Given the description of an element on the screen output the (x, y) to click on. 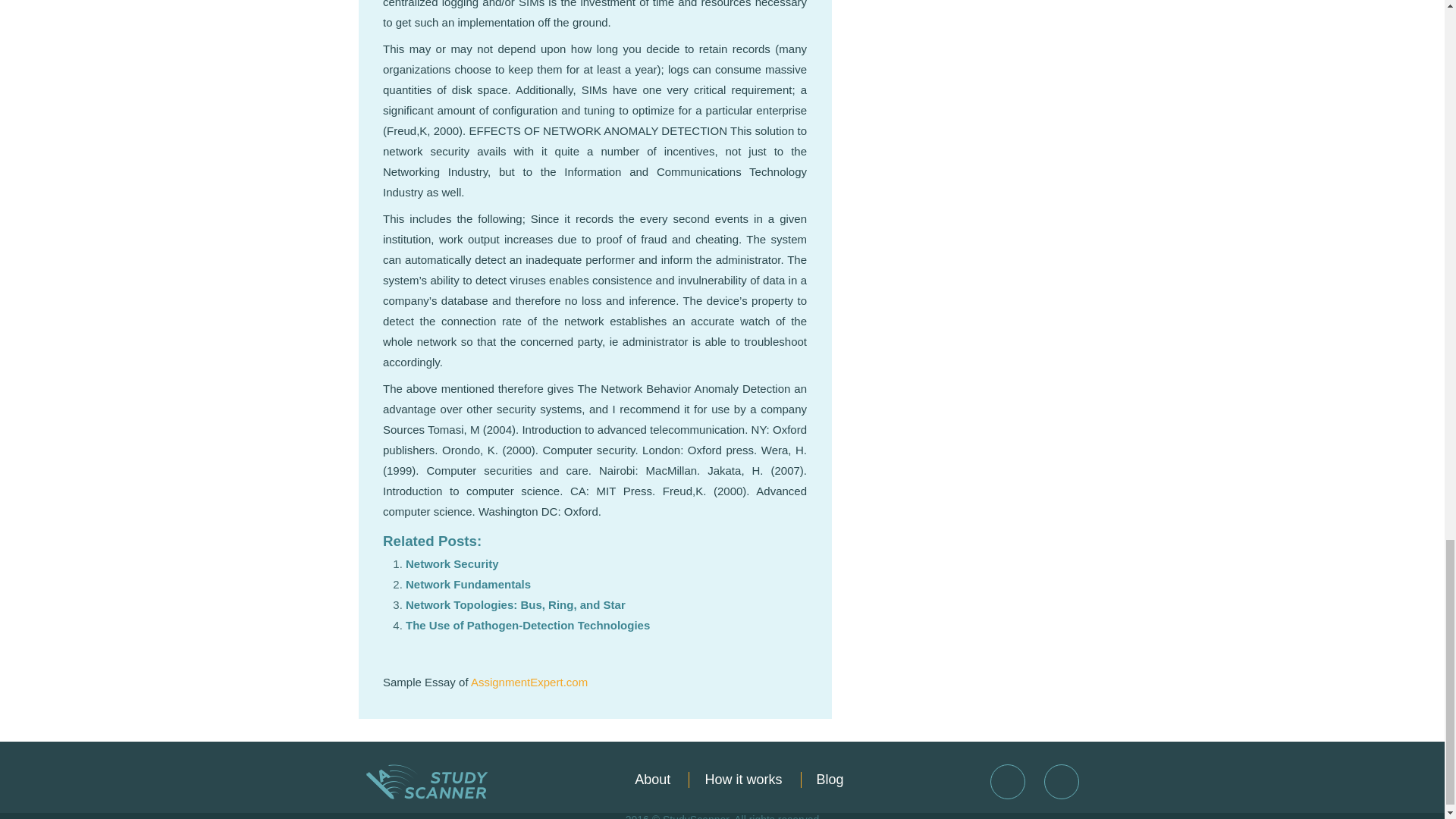
Facebook (1007, 781)
Network Topologies: Bus, Ring, and Star (516, 604)
Blog (829, 779)
Network Topologies: Bus, Ring, and Star (516, 604)
The Use of Pathogen-Detection Technologies (527, 625)
How it works (742, 779)
About (652, 779)
How Studyscanner works (742, 779)
Network Fundamentals (468, 584)
Network Fundamentals (468, 584)
Network Security (452, 563)
About Studyscanner service (652, 779)
Google plus (1060, 781)
How Studyscanner blog (829, 779)
AssignmentExpert.com (529, 681)
